Given the description of an element on the screen output the (x, y) to click on. 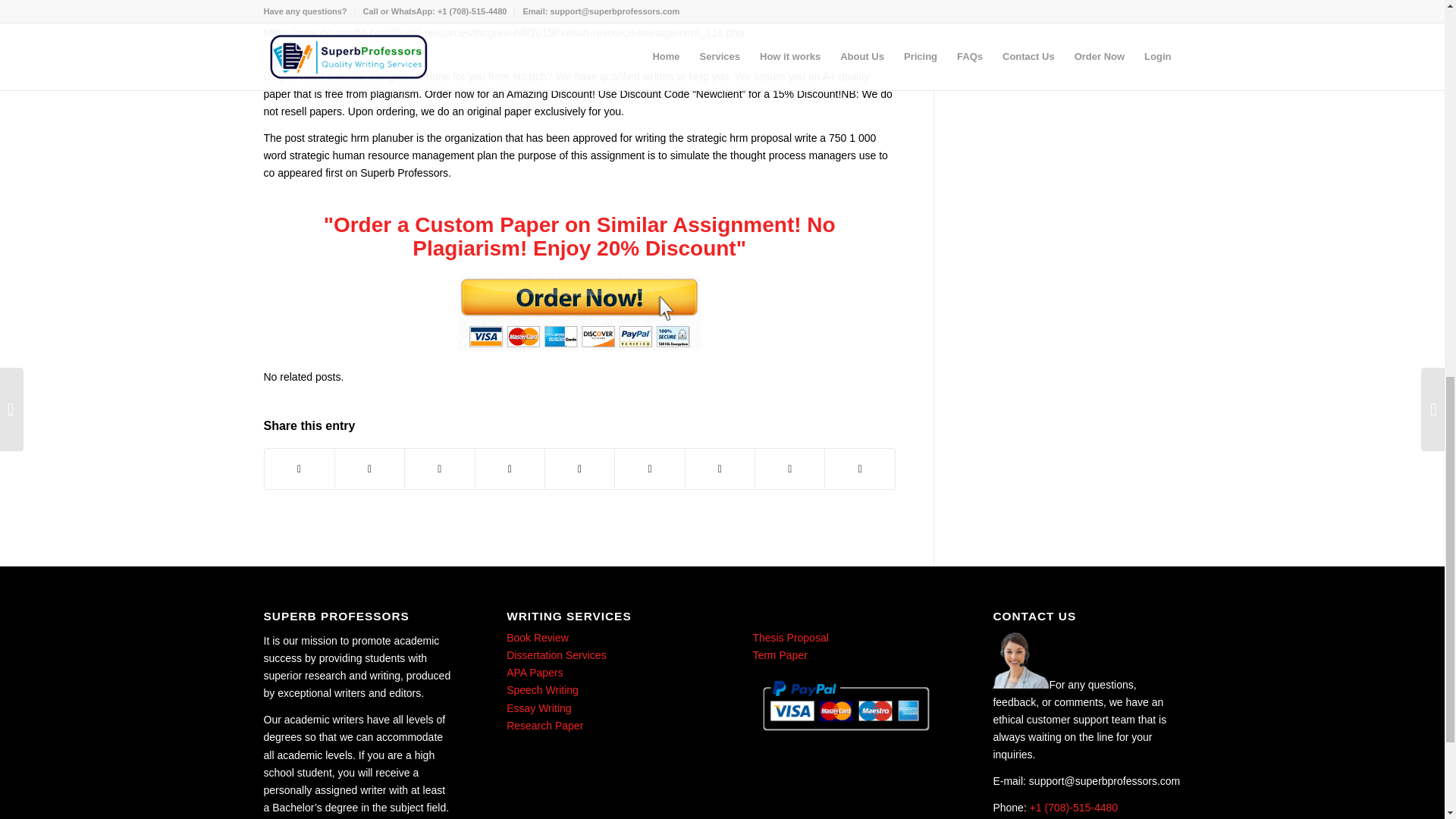
Book Review (537, 637)
APA Papers (534, 672)
Speech Writing (542, 689)
 Term Paper (778, 654)
Research Paper (544, 725)
 Thesis Proposal (788, 637)
Dissertation Services (556, 654)
Essay Writing (538, 707)
